Given the description of an element on the screen output the (x, y) to click on. 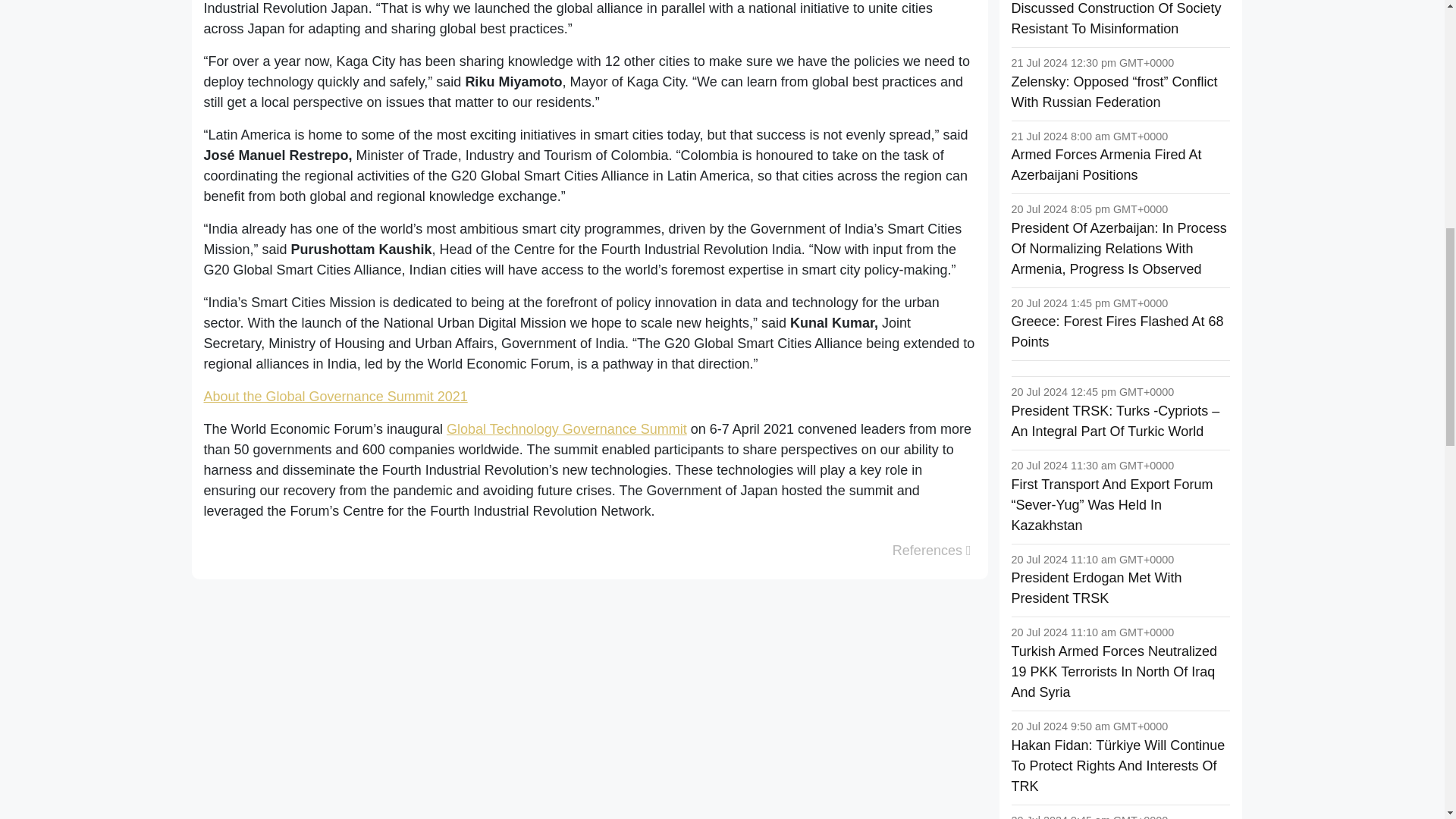
About the Global Governance Summit 2021 (335, 396)
Global Technology Governance Summit (566, 428)
References (931, 550)
